Given the description of an element on the screen output the (x, y) to click on. 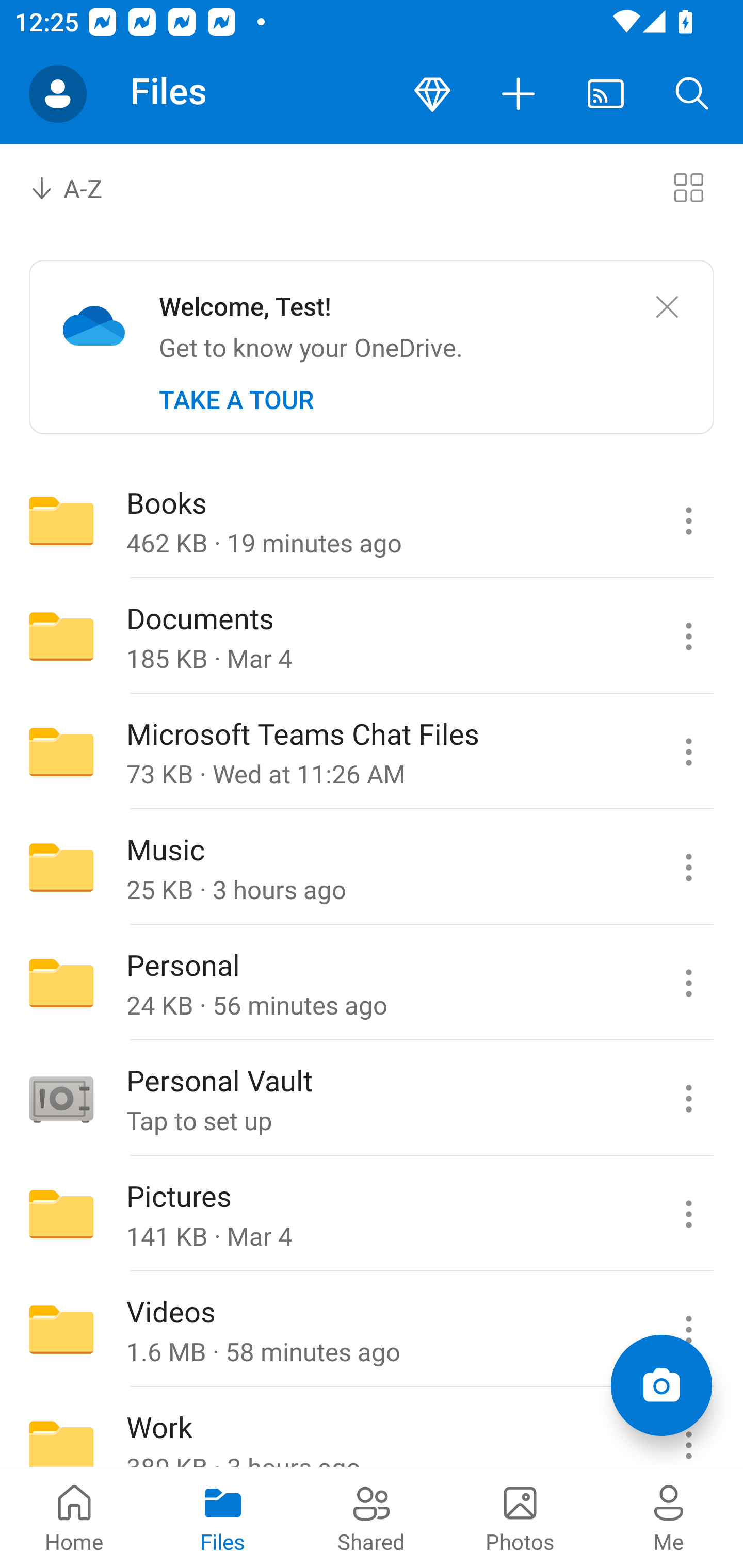
Account switcher (57, 93)
Cast. Disconnected (605, 93)
Premium button (432, 93)
More actions button (518, 93)
Search button (692, 93)
A-Z Sort by combo box, sort by name, A to Z (80, 187)
Switch to tiles view (688, 187)
Close (667, 307)
TAKE A TOUR (236, 399)
Books commands (688, 520)
Folder Documents 185 KB · Mar 4 Documents commands (371, 636)
Documents commands (688, 636)
Microsoft Teams Chat Files commands (688, 751)
Folder Music 25 KB · 3 hours ago Music commands (371, 867)
Music commands (688, 867)
Personal commands (688, 983)
Personal Vault commands (688, 1099)
Folder Pictures 141 KB · Mar 4 Pictures commands (371, 1214)
Pictures commands (688, 1214)
Videos commands (688, 1329)
Add items Scan (660, 1385)
Folder Work 380 KB · 3 hours ago Work commands (371, 1427)
Work commands (688, 1427)
Home pivot Home (74, 1517)
Shared pivot Shared (371, 1517)
Photos pivot Photos (519, 1517)
Me pivot Me (668, 1517)
